Given the description of an element on the screen output the (x, y) to click on. 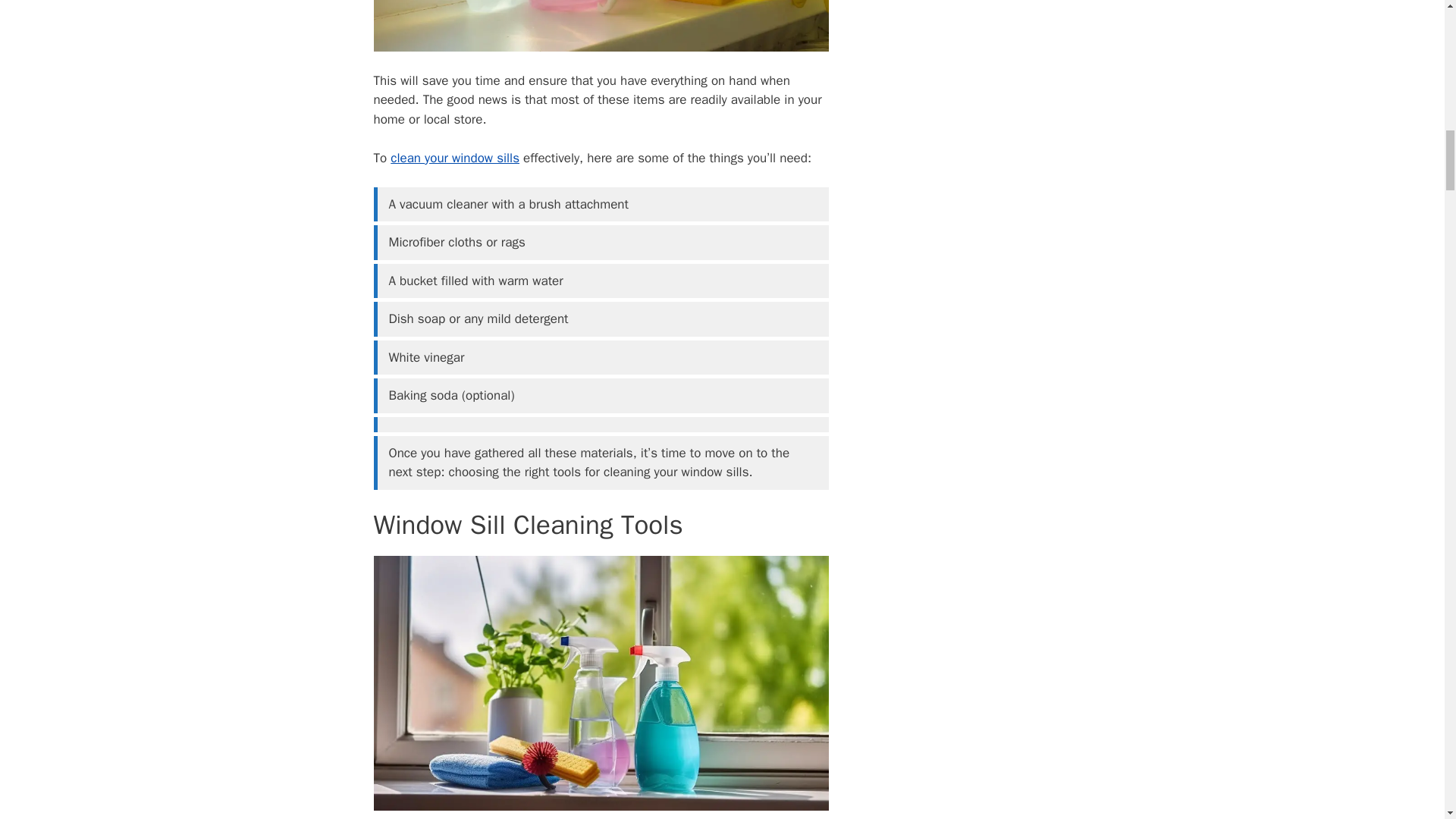
clean your window sills (454, 157)
